Given the description of an element on the screen output the (x, y) to click on. 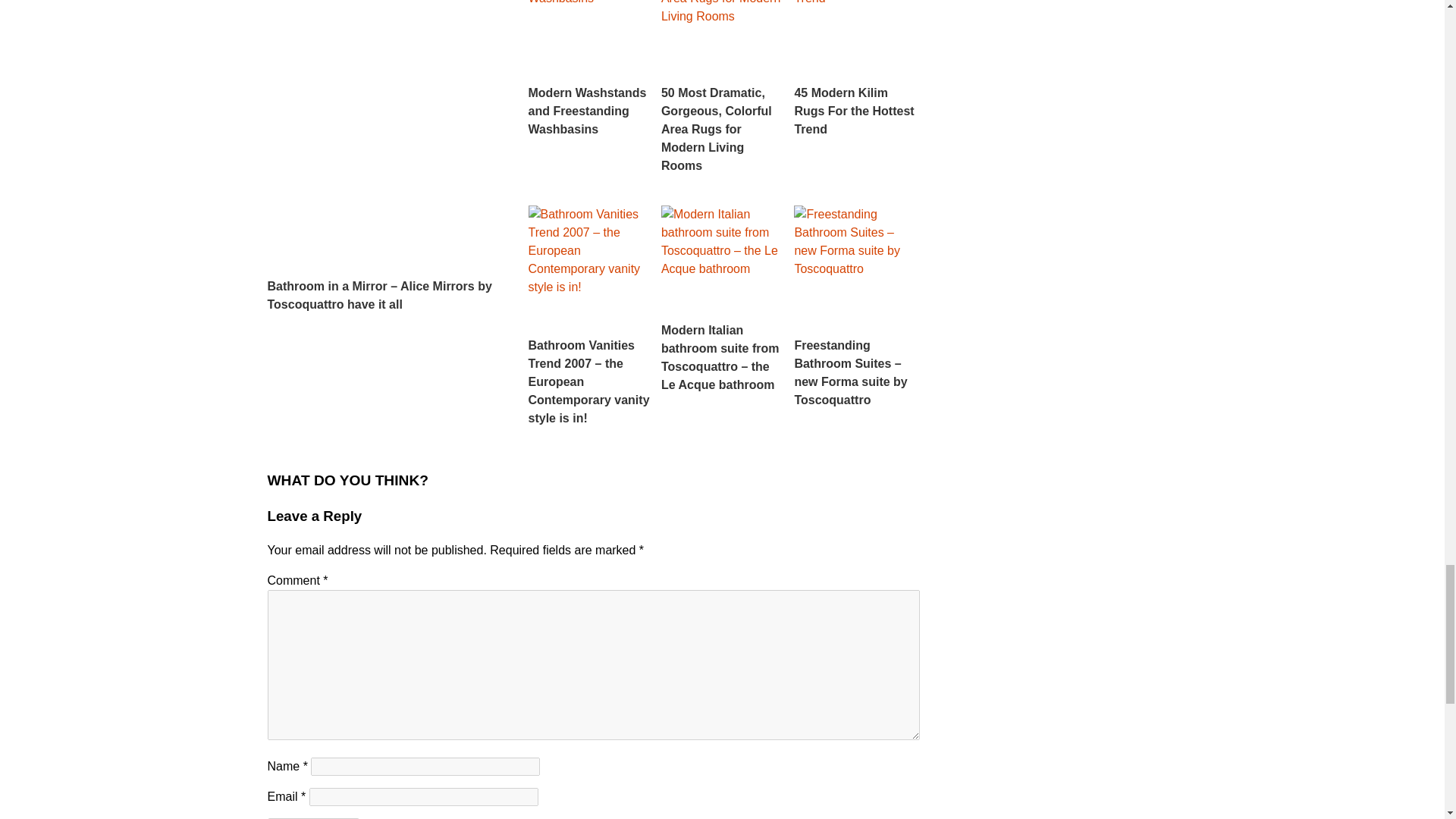
Modern Washstands and Freestanding Washbasins (589, 69)
45 Modern Kilim Rugs For the Hottest Trend (855, 69)
Modern Washstands and Freestanding Washbasins (589, 69)
45 Modern Kilim Rugs For the Hottest Trend (855, 69)
